Given the description of an element on the screen output the (x, y) to click on. 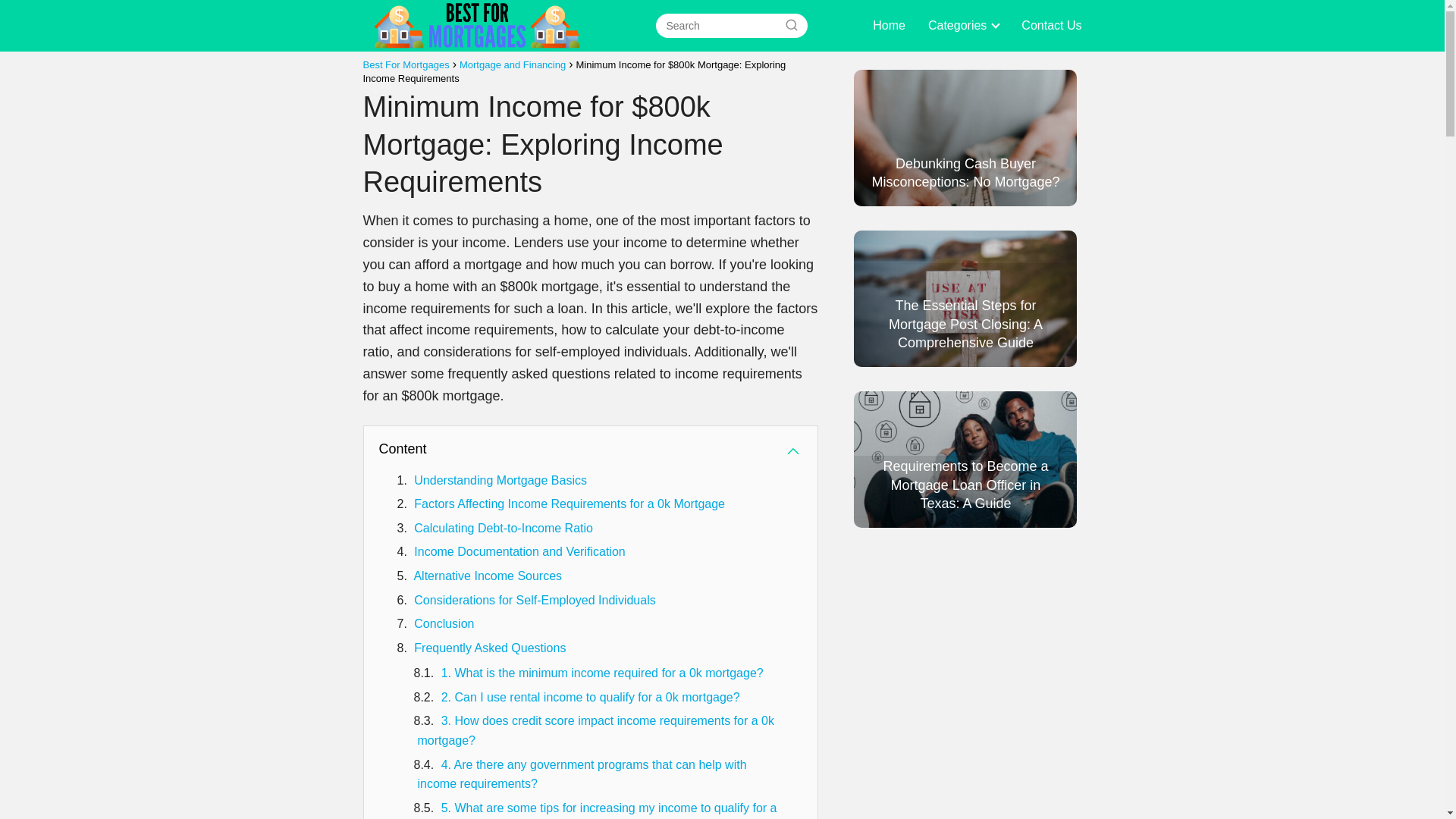
1. What is the minimum income required for a 0k mortgage? (601, 672)
Alternative Income Sources (487, 575)
Mortgage and Financing (513, 64)
Factors Affecting Income Requirements for a 0k Mortgage (569, 503)
2. Can I use rental income to qualify for a 0k mortgage? (590, 697)
1. What is the minimum income required for a 0k mortgage? (601, 672)
Considerations for Self-Employed Individuals (534, 599)
Contact Us (1051, 24)
Alternative Income Sources (487, 575)
Considerations for Self-Employed Individuals (534, 599)
Home (888, 24)
Frequently Asked Questions (489, 647)
